Given the description of an element on the screen output the (x, y) to click on. 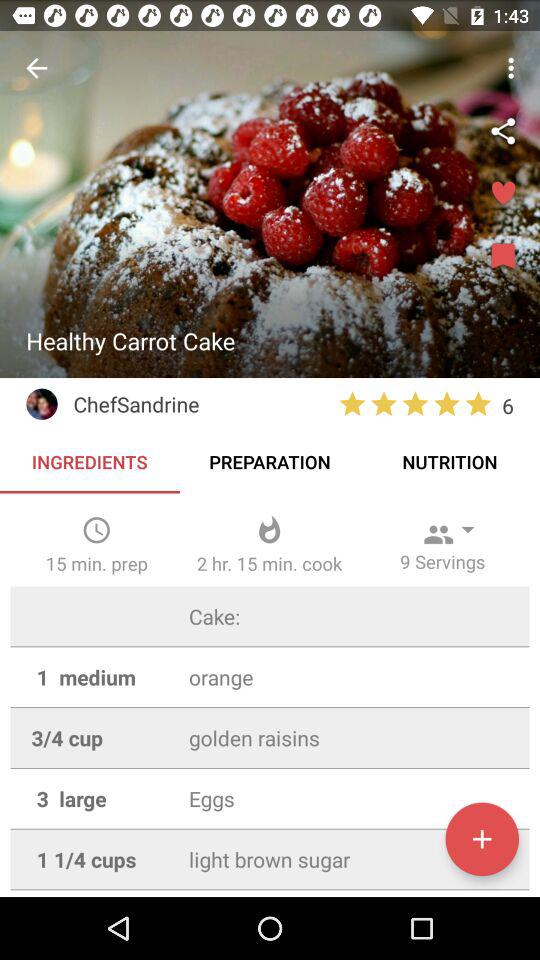
menu button (503, 257)
